Given the description of an element on the screen output the (x, y) to click on. 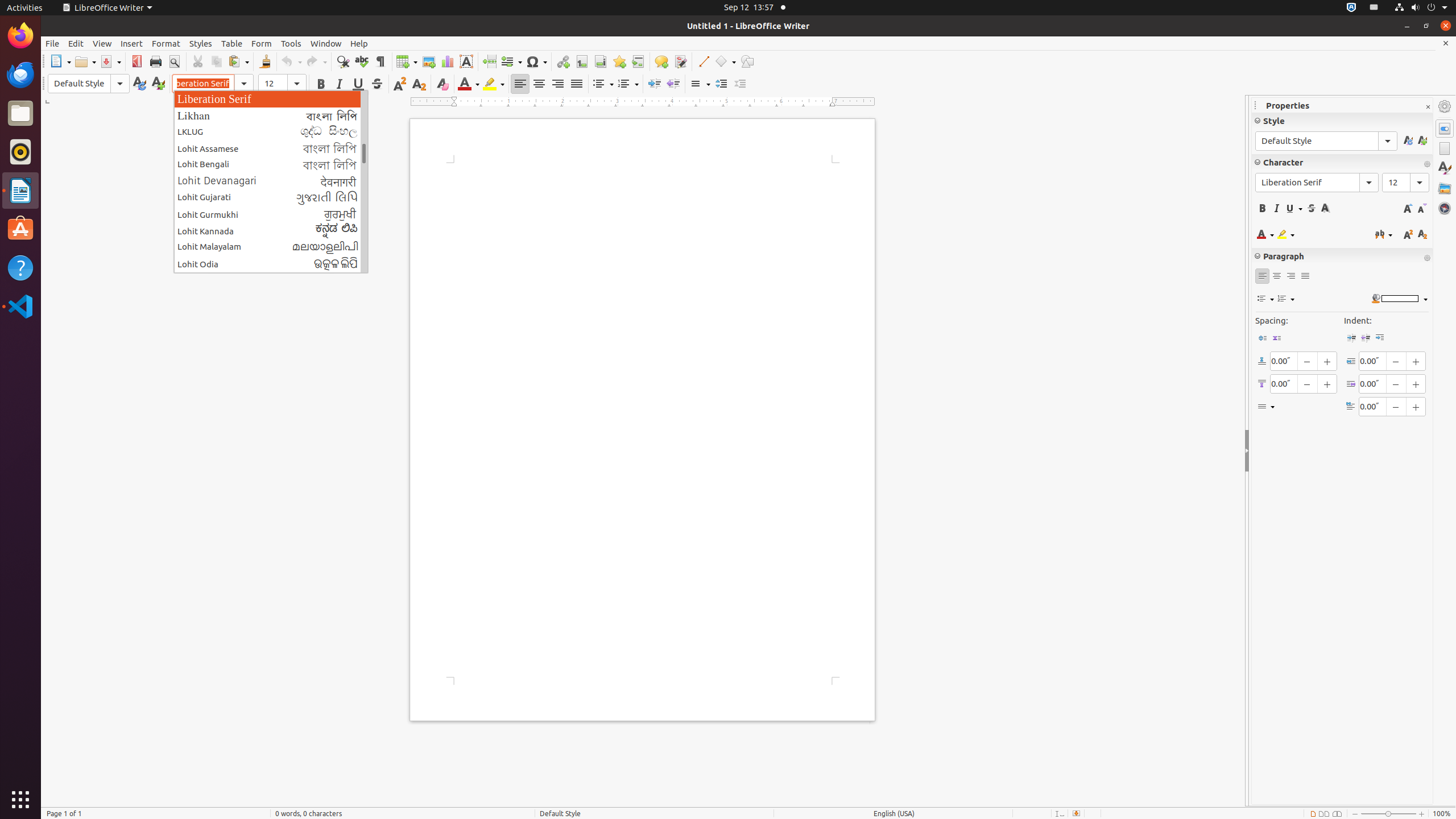
Styles Element type: radio-button (1444, 168)
Help Element type: push-button (20, 267)
Properties Element type: radio-button (1444, 128)
More Options Element type: push-button (1426, 257)
Cut Element type: push-button (197, 61)
